Given the description of an element on the screen output the (x, y) to click on. 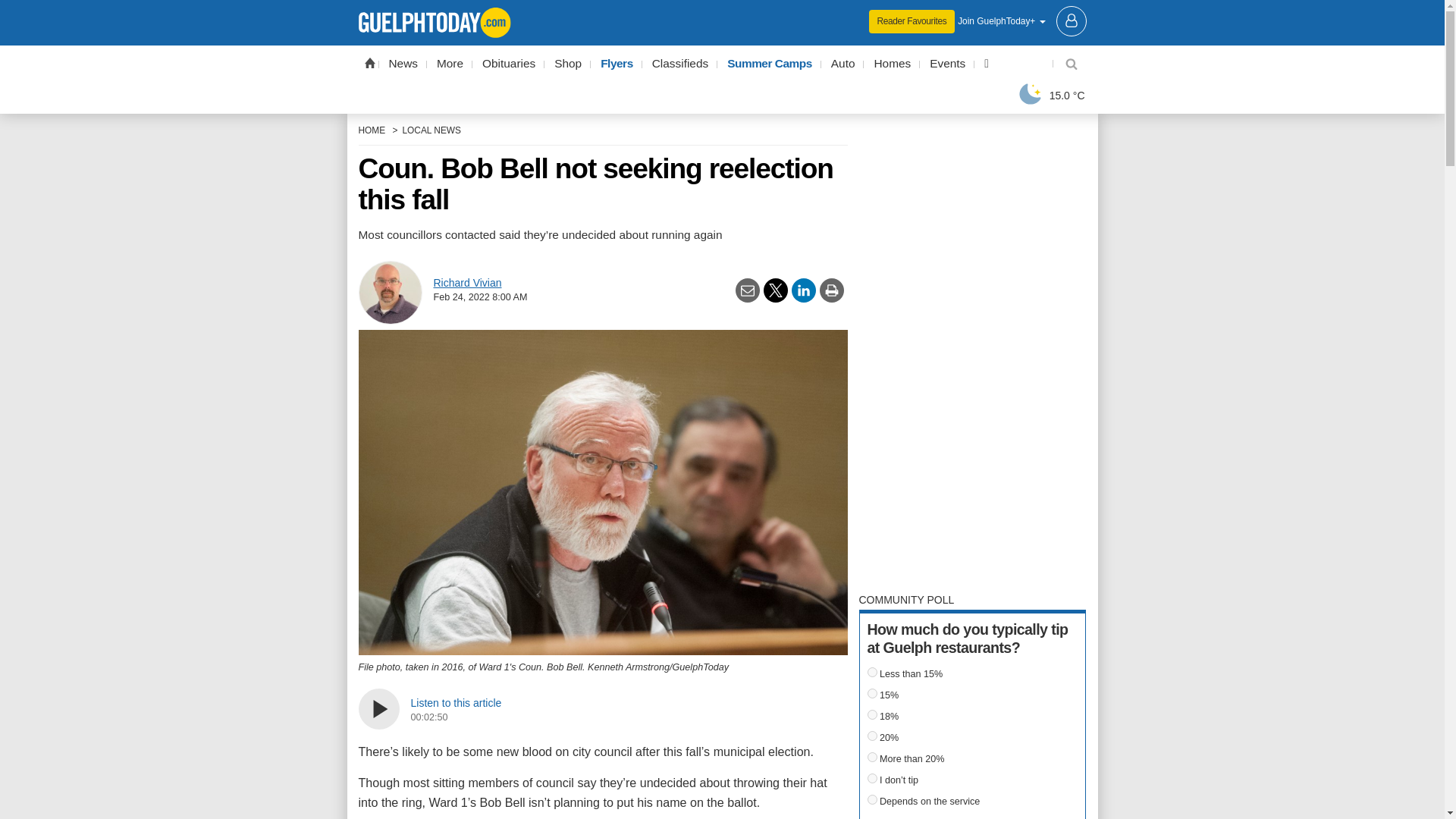
122727 (872, 777)
122722 (872, 672)
Reader Favourites (912, 21)
3rd party ad content (722, 10)
Home (368, 62)
122724 (872, 714)
122728 (872, 799)
122725 (872, 736)
News (403, 64)
122726 (872, 757)
122723 (872, 693)
